Given the description of an element on the screen output the (x, y) to click on. 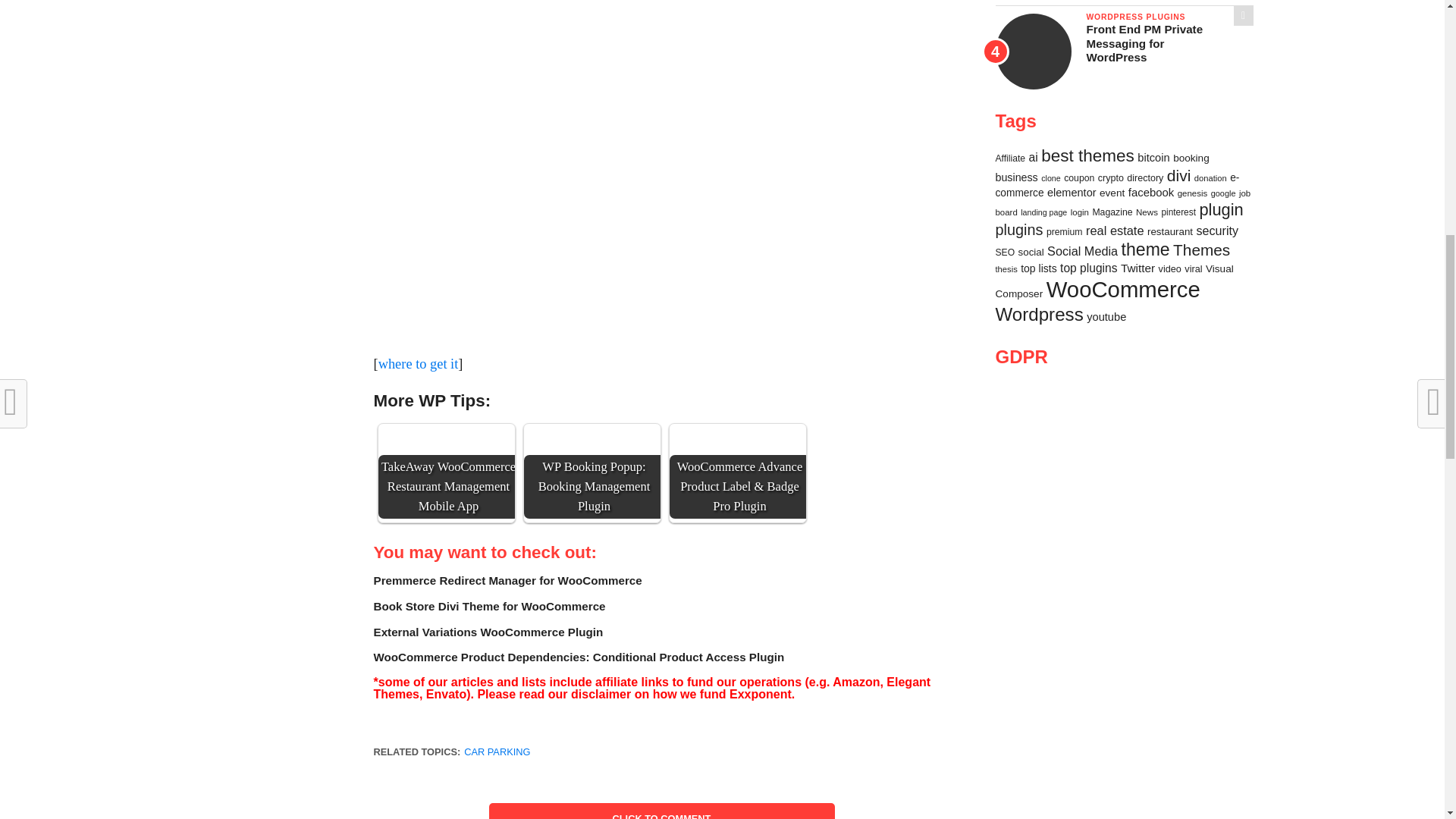
TakeAway WooCommerce Restaurant Management Mobile App (446, 446)
Book Store Divi Theme for WooCommerce (488, 605)
External Variations WooCommerce Plugin (487, 631)
WP Booking Popup: Booking Management Plugin (592, 446)
Premmerce Redirect Manager for WooCommerce (507, 580)
